Given the description of an element on the screen output the (x, y) to click on. 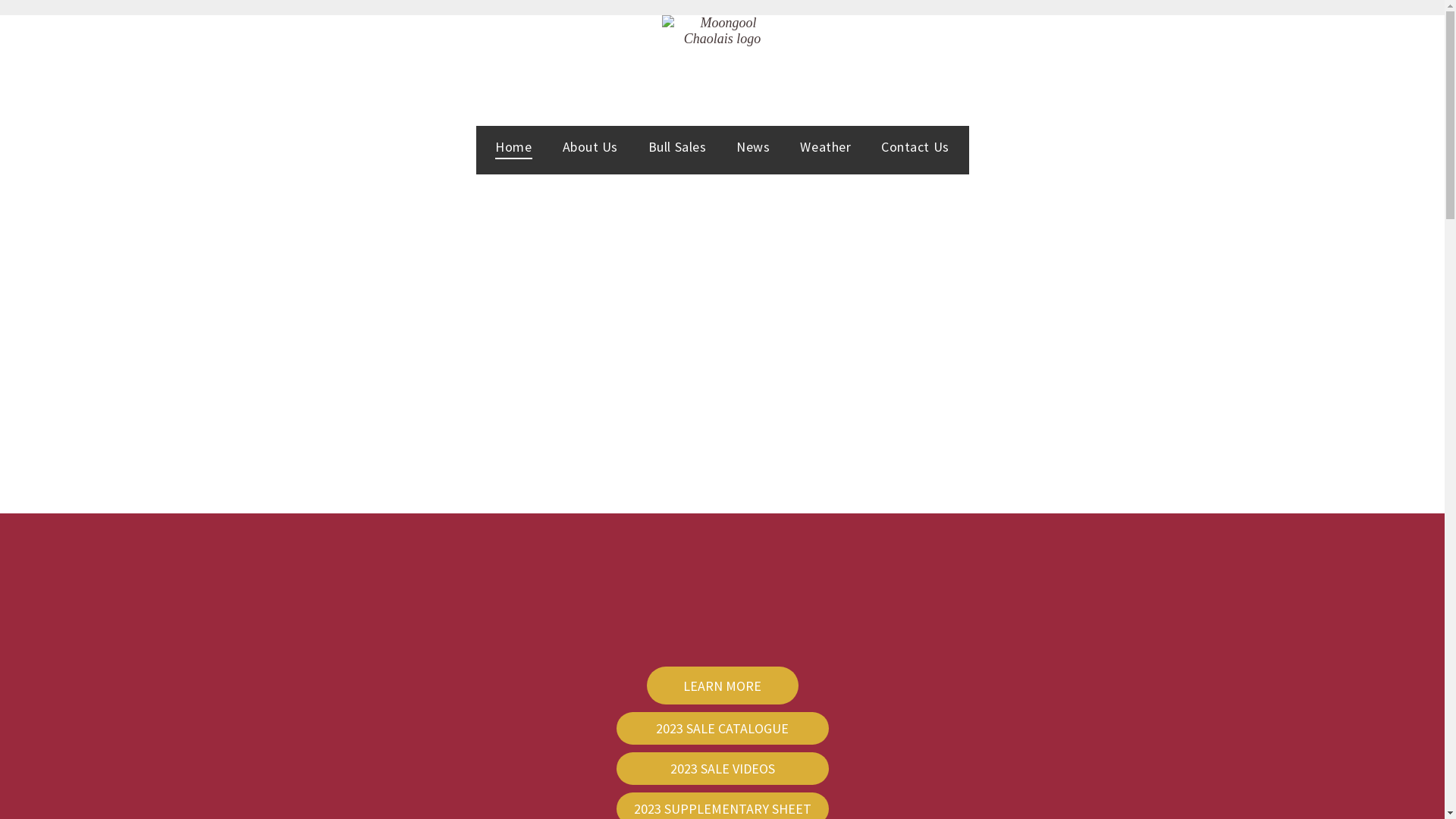
Contact Us Element type: text (914, 146)
News Element type: text (752, 146)
About Us Element type: text (590, 146)
2023 SALE CATALOGUE Element type: text (721, 728)
Bull Sales Element type: text (677, 146)
Home Element type: text (513, 146)
LEARN MORE Element type: text (721, 685)
Weather Element type: text (825, 146)
2023 SALE VIDEOS Element type: text (721, 768)
